Given the description of an element on the screen output the (x, y) to click on. 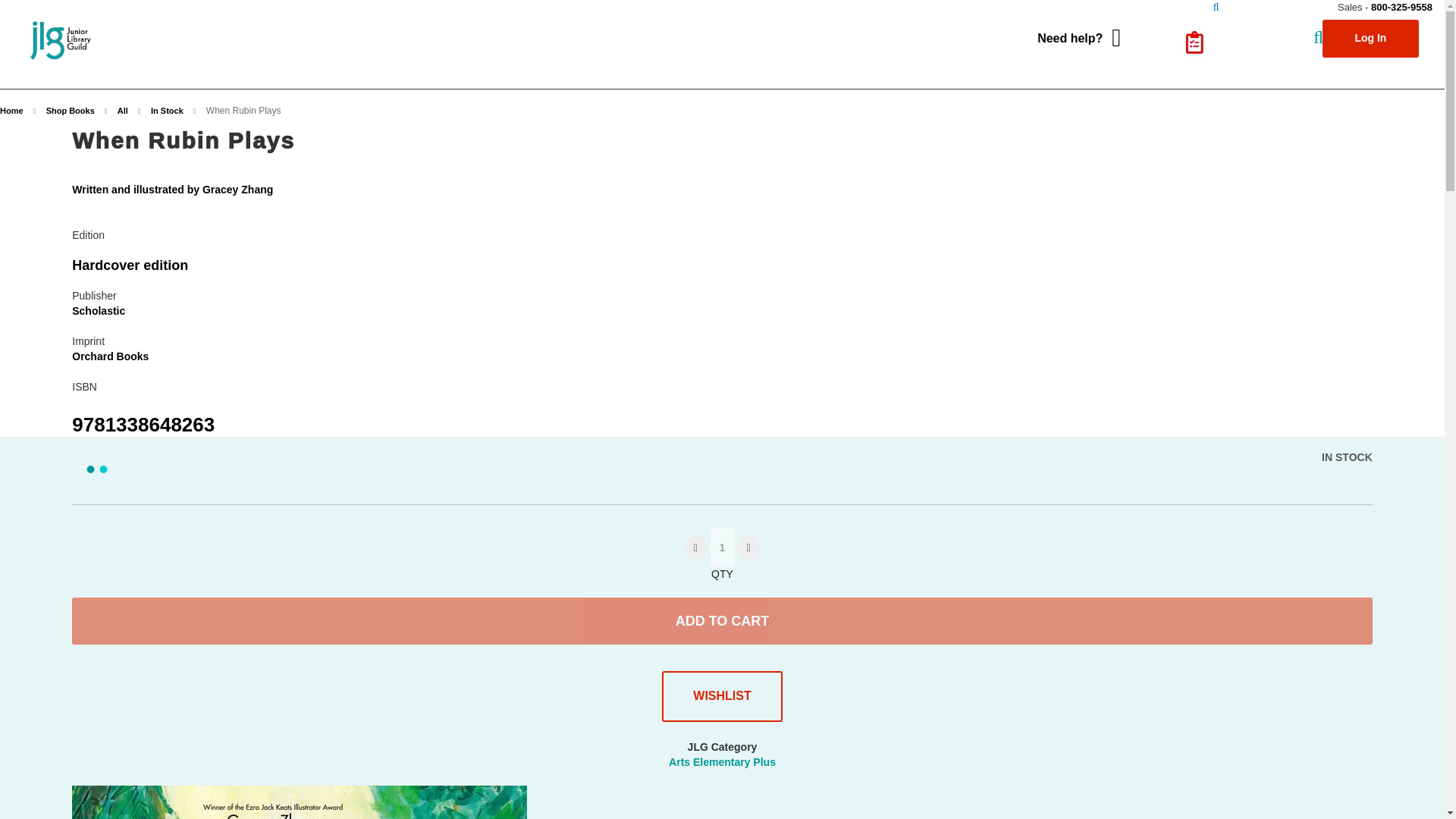
Junior Library Guild (63, 40)
Advanced Search (1256, 67)
Add to Cart (722, 620)
Need Help? (1078, 37)
Search (1216, 7)
Availability (1347, 458)
Go to Home Page (13, 110)
